Given the description of an element on the screen output the (x, y) to click on. 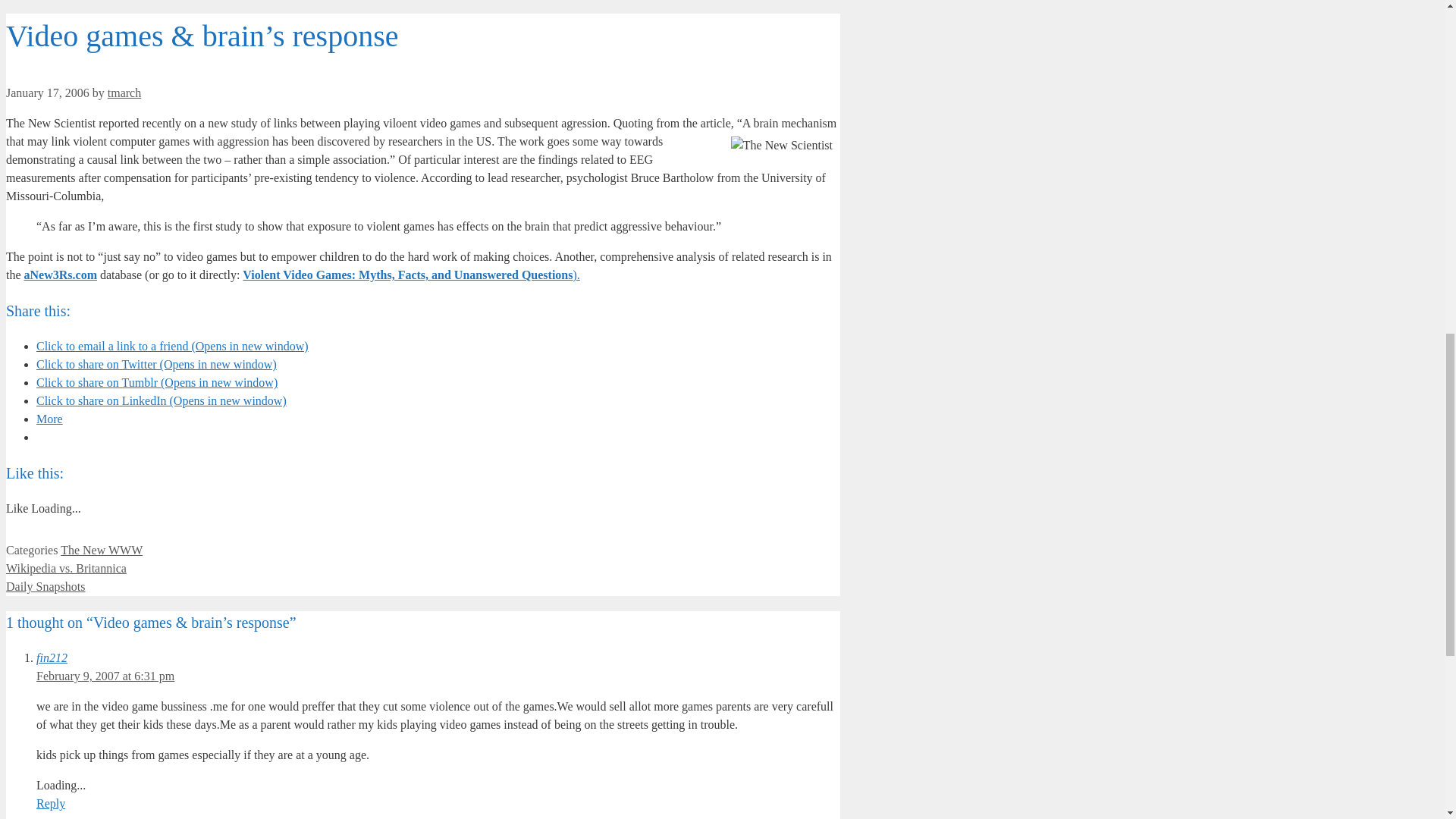
Click to share on Twitter (156, 364)
Viloent video games summary of research (411, 274)
View all posts by tmarch (124, 92)
anew3Rs (60, 274)
Click to share on LinkedIn (161, 400)
Click to email a link to a friend (172, 345)
Click to share on Tumblr (157, 382)
